Given the description of an element on the screen output the (x, y) to click on. 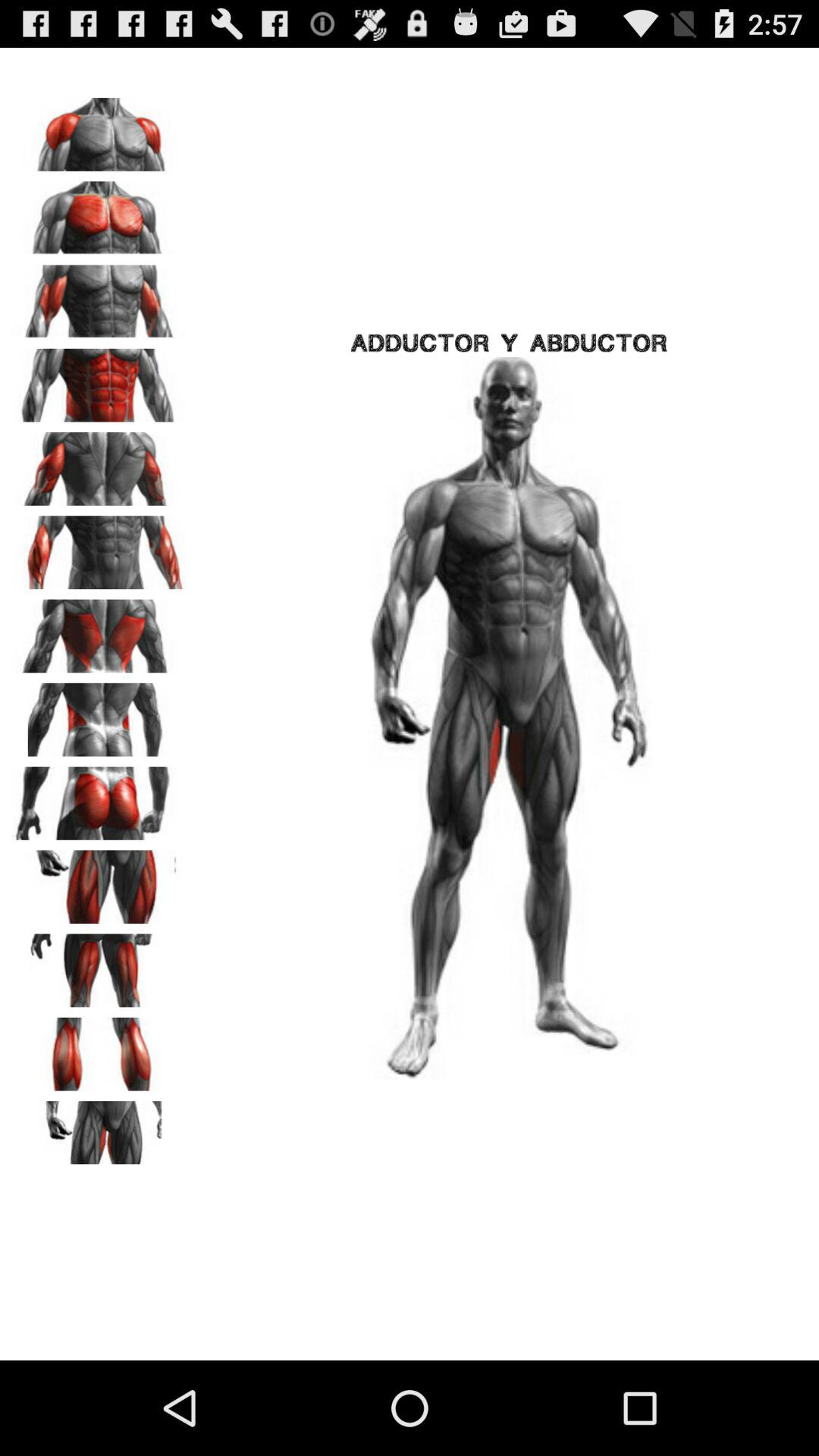
select muscle (99, 129)
